Given the description of an element on the screen output the (x, y) to click on. 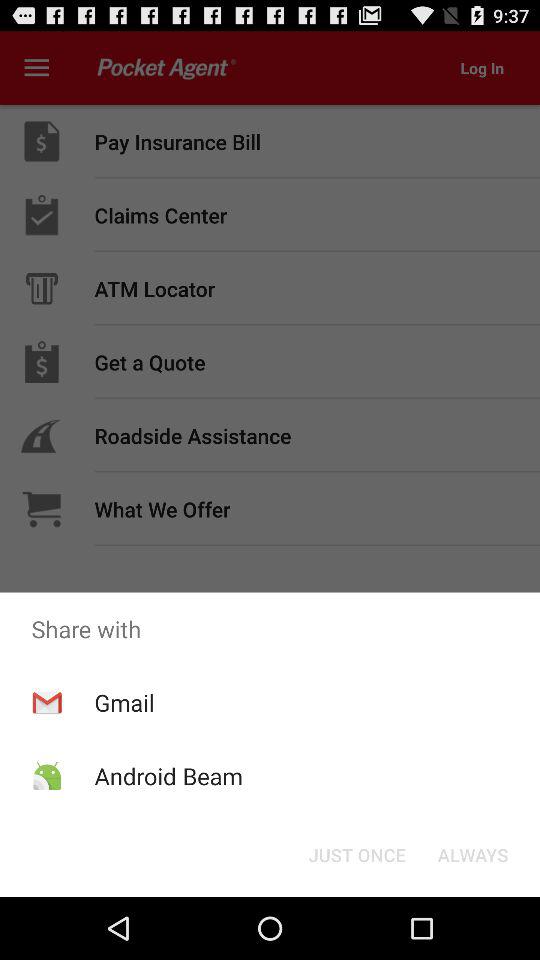
choose the icon at the bottom (356, 854)
